Given the description of an element on the screen output the (x, y) to click on. 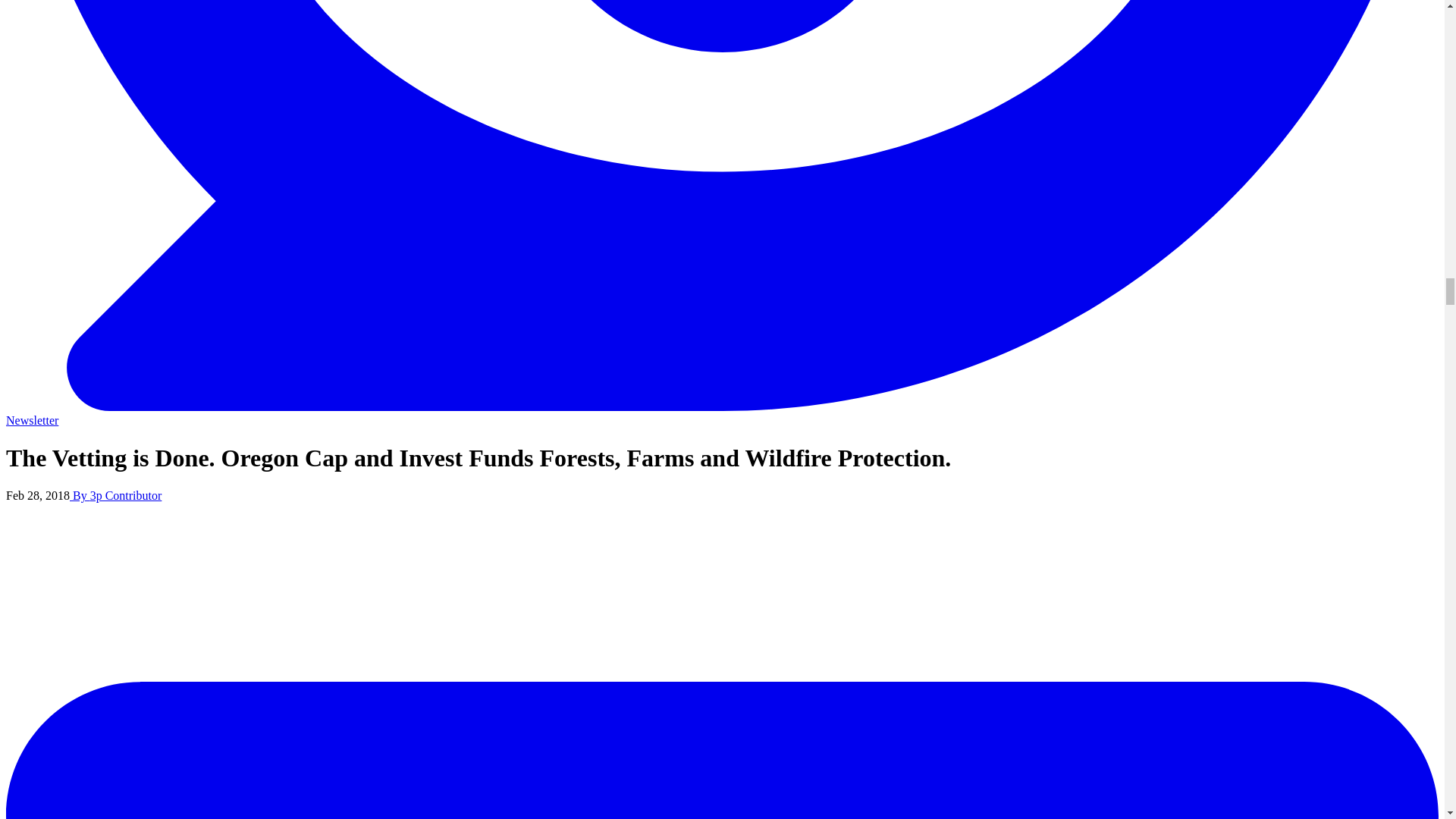
By 3p Contributor (115, 495)
Newsletter (31, 420)
